Given the description of an element on the screen output the (x, y) to click on. 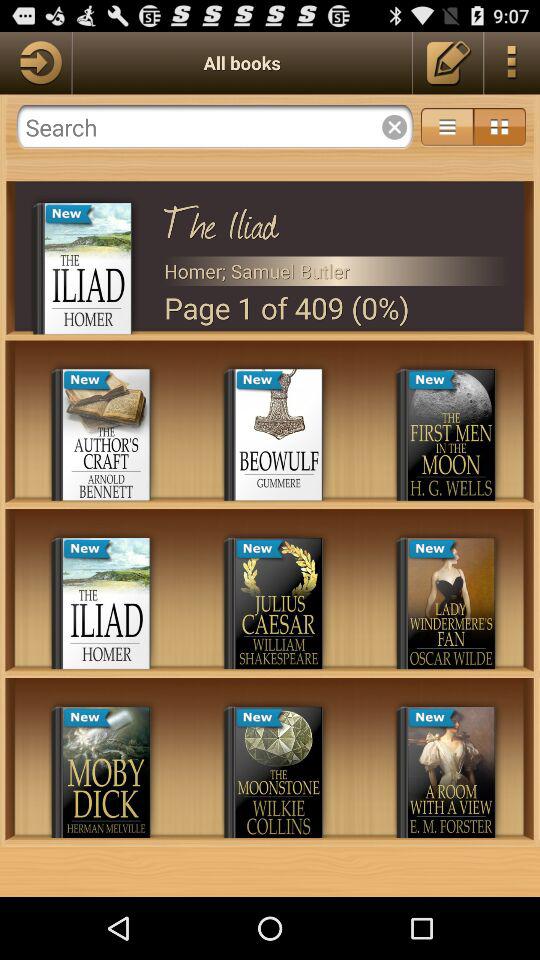
switch to grid view (499, 127)
